Given the description of an element on the screen output the (x, y) to click on. 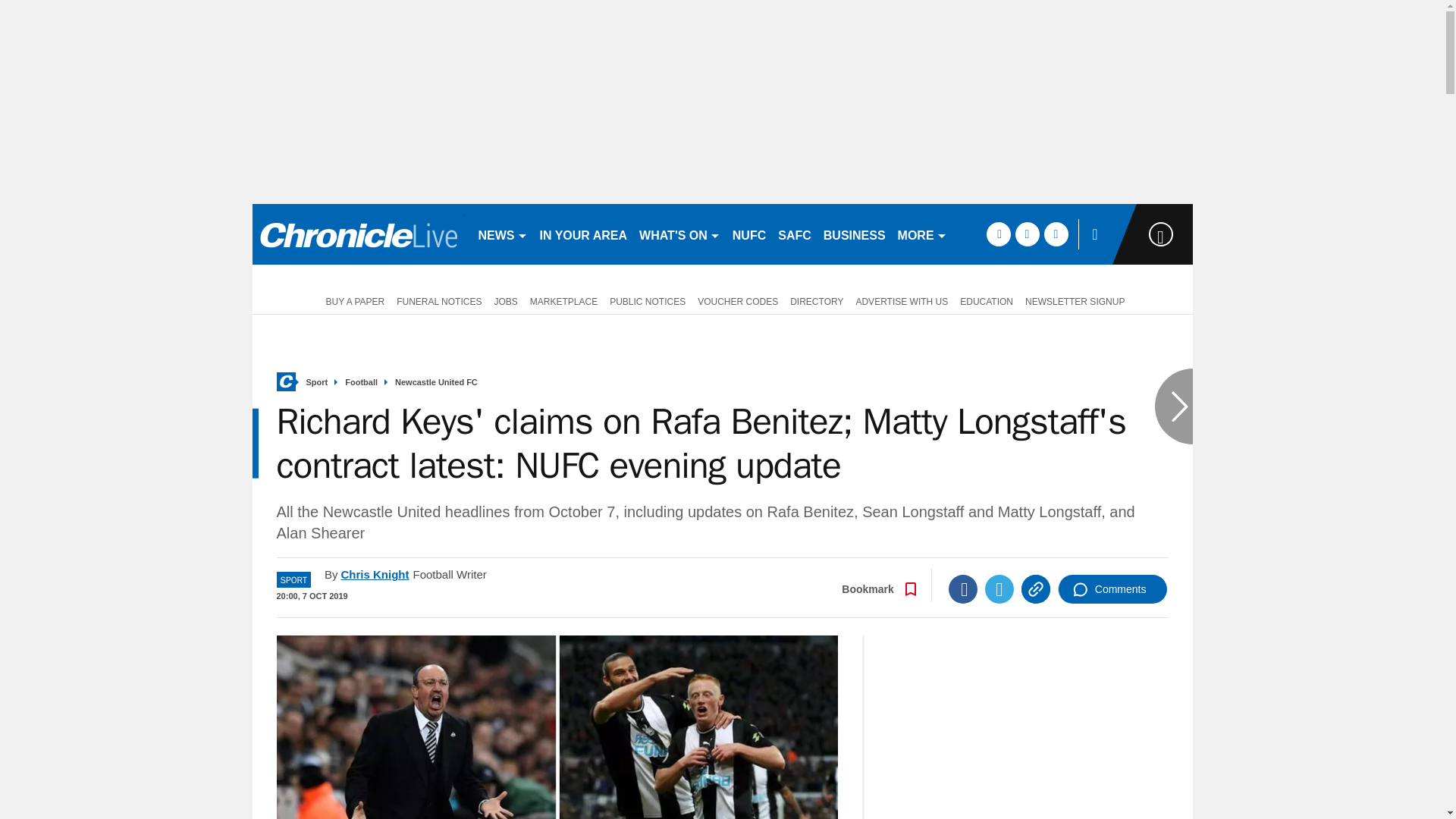
IN YOUR AREA (583, 233)
instagram (1055, 233)
nechronicle (357, 233)
MORE (922, 233)
facebook (997, 233)
BUSINESS (853, 233)
twitter (1026, 233)
Facebook (962, 588)
NEWS (501, 233)
Twitter (999, 588)
